Given the description of an element on the screen output the (x, y) to click on. 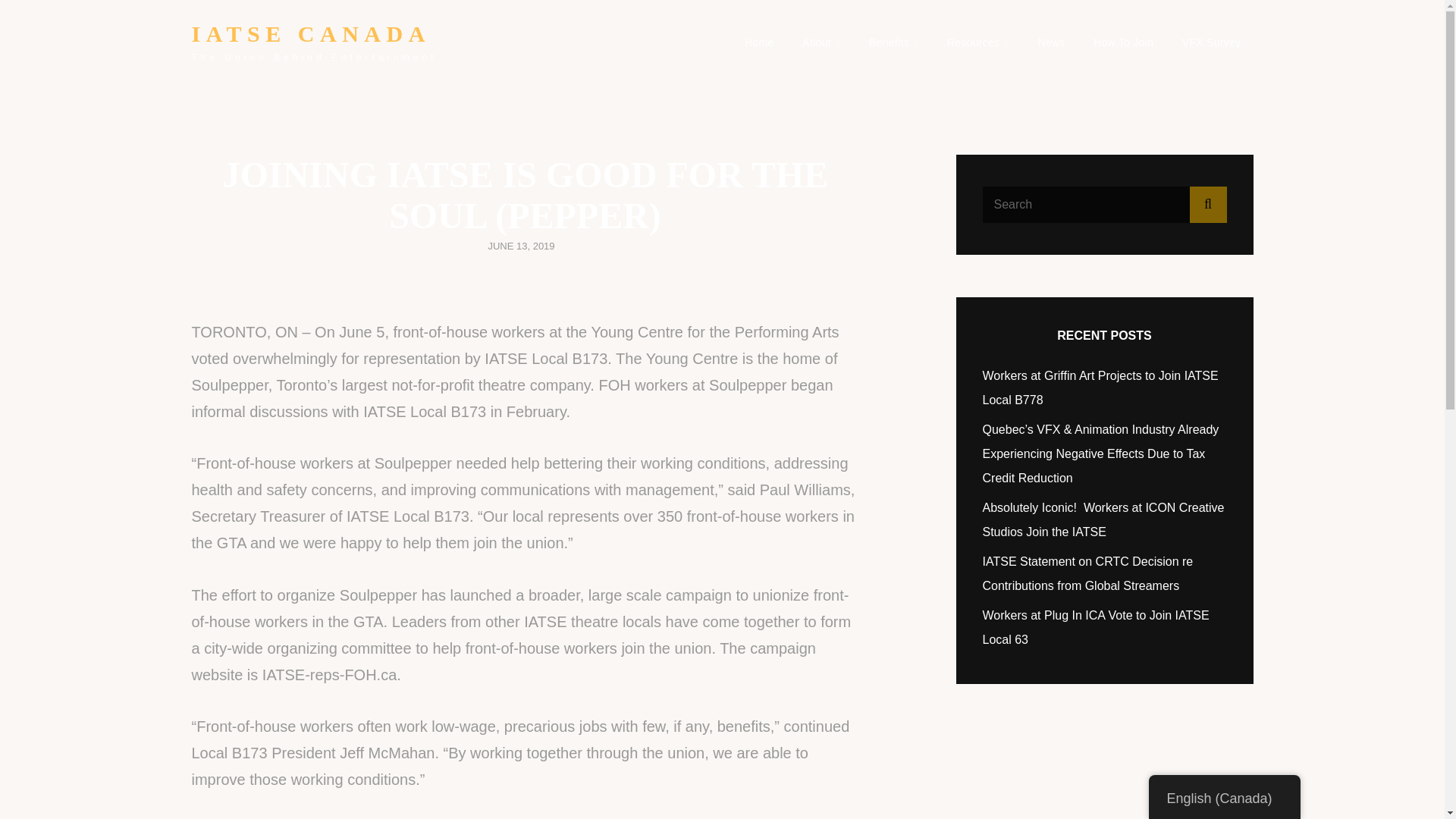
Resources (978, 42)
Benefits (893, 42)
JUNE 13, 2019 (520, 245)
IATSE CANADA (309, 33)
VFX Survey (1211, 42)
News (1051, 42)
Search (1207, 204)
Workers at Plug In ICA Vote to Join IATSE Local 63 (1095, 627)
How To Join (1123, 42)
